Given the description of an element on the screen output the (x, y) to click on. 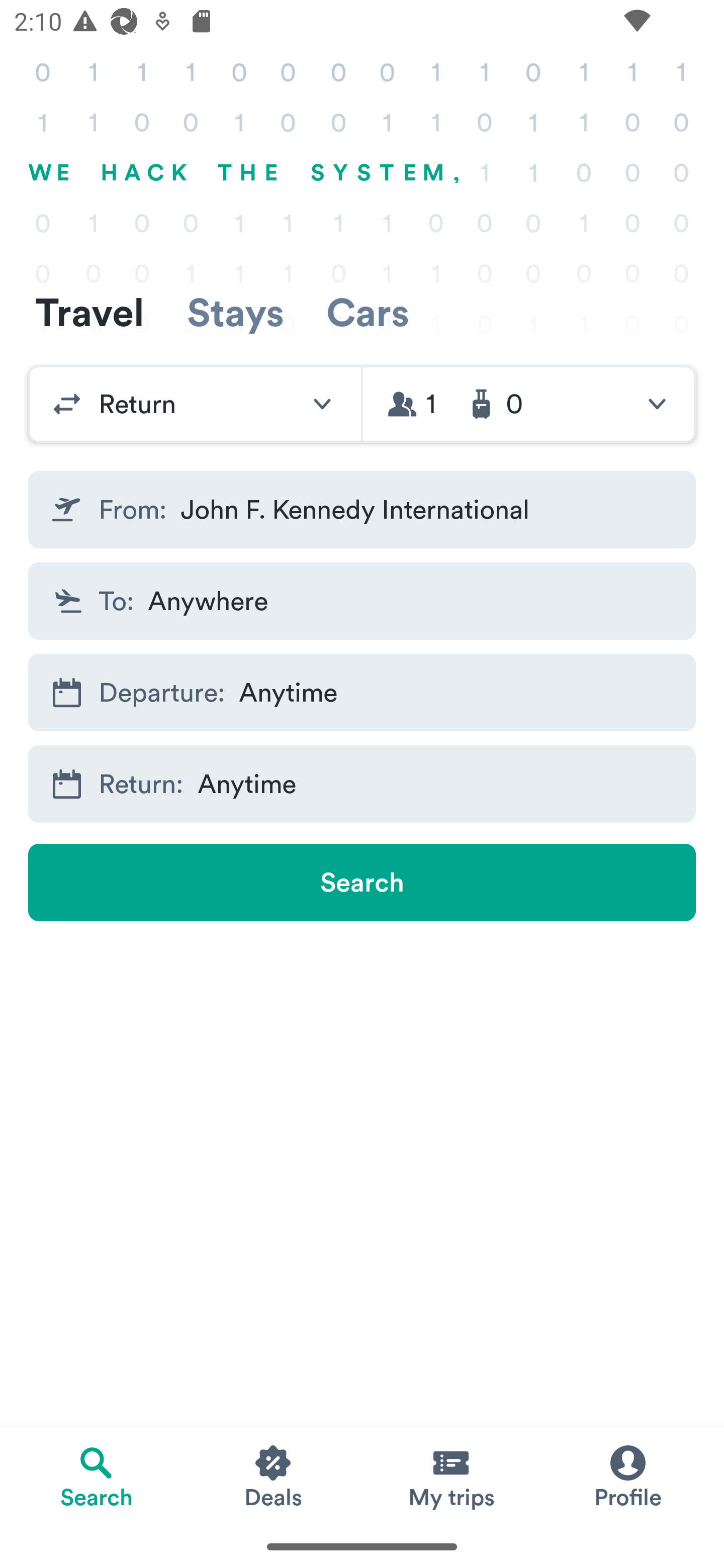
Travel (89, 311)
Stays (235, 311)
Cars (367, 311)
Return (194, 404)
Passengers 1 Bags 0 (528, 404)
From: John F. Kennedy International (361, 509)
To: Anywhere (361, 600)
Departure: Anytime (361, 692)
Return: Anytime (361, 783)
Search (361, 882)
Deals (273, 1475)
My trips (450, 1475)
Profile (627, 1475)
